Given the description of an element on the screen output the (x, y) to click on. 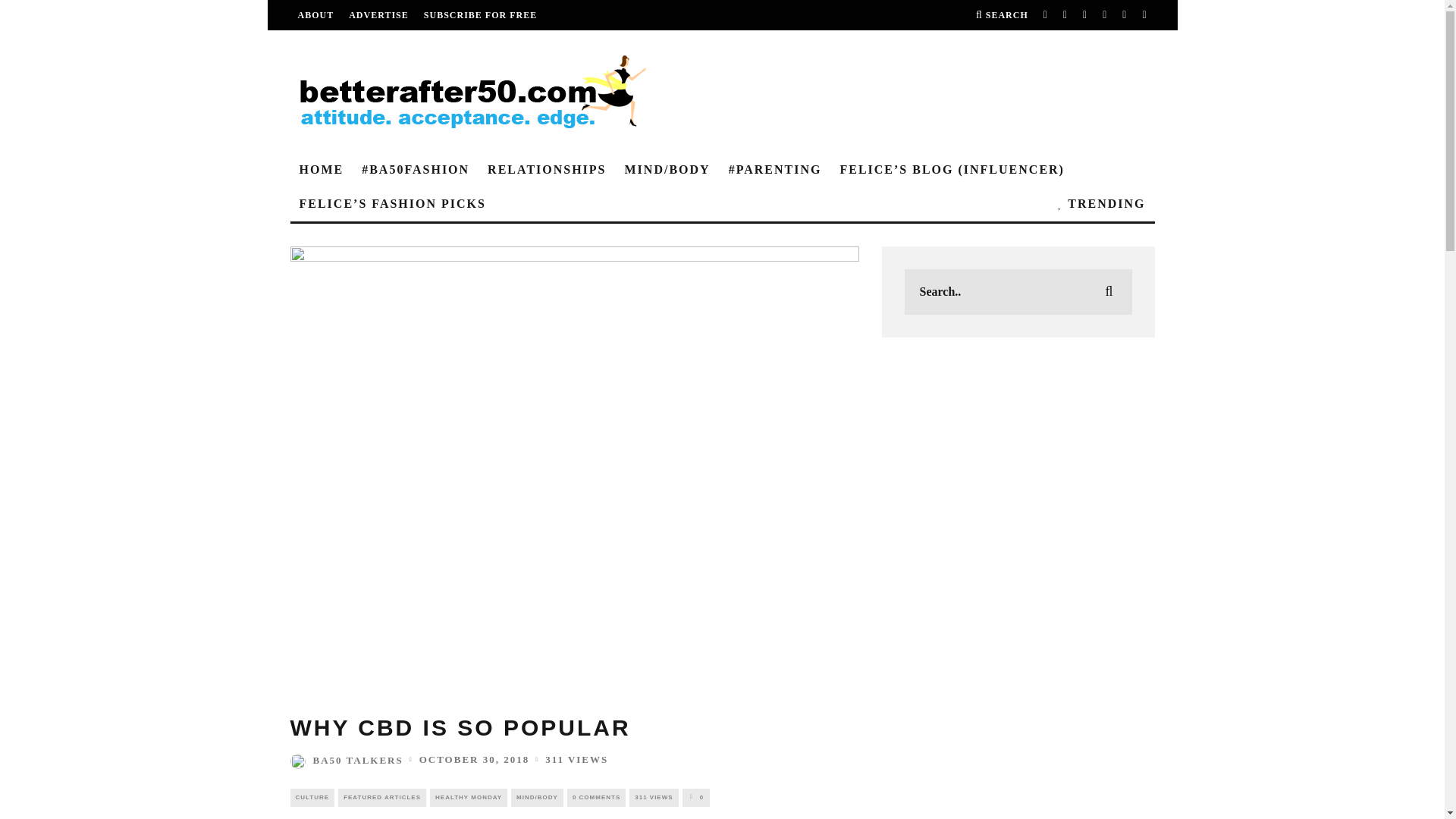
HOME (320, 170)
ABOUT (315, 15)
Search (1001, 15)
ADVERTISE (379, 15)
View all posts in Featured Articles (381, 797)
SUBSCRIBE FOR FREE (480, 15)
View all posts in Healthy Monday (467, 797)
View all posts in Culture (311, 797)
SEARCH (1001, 15)
RELATIONSHIPS (546, 170)
